Given the description of an element on the screen output the (x, y) to click on. 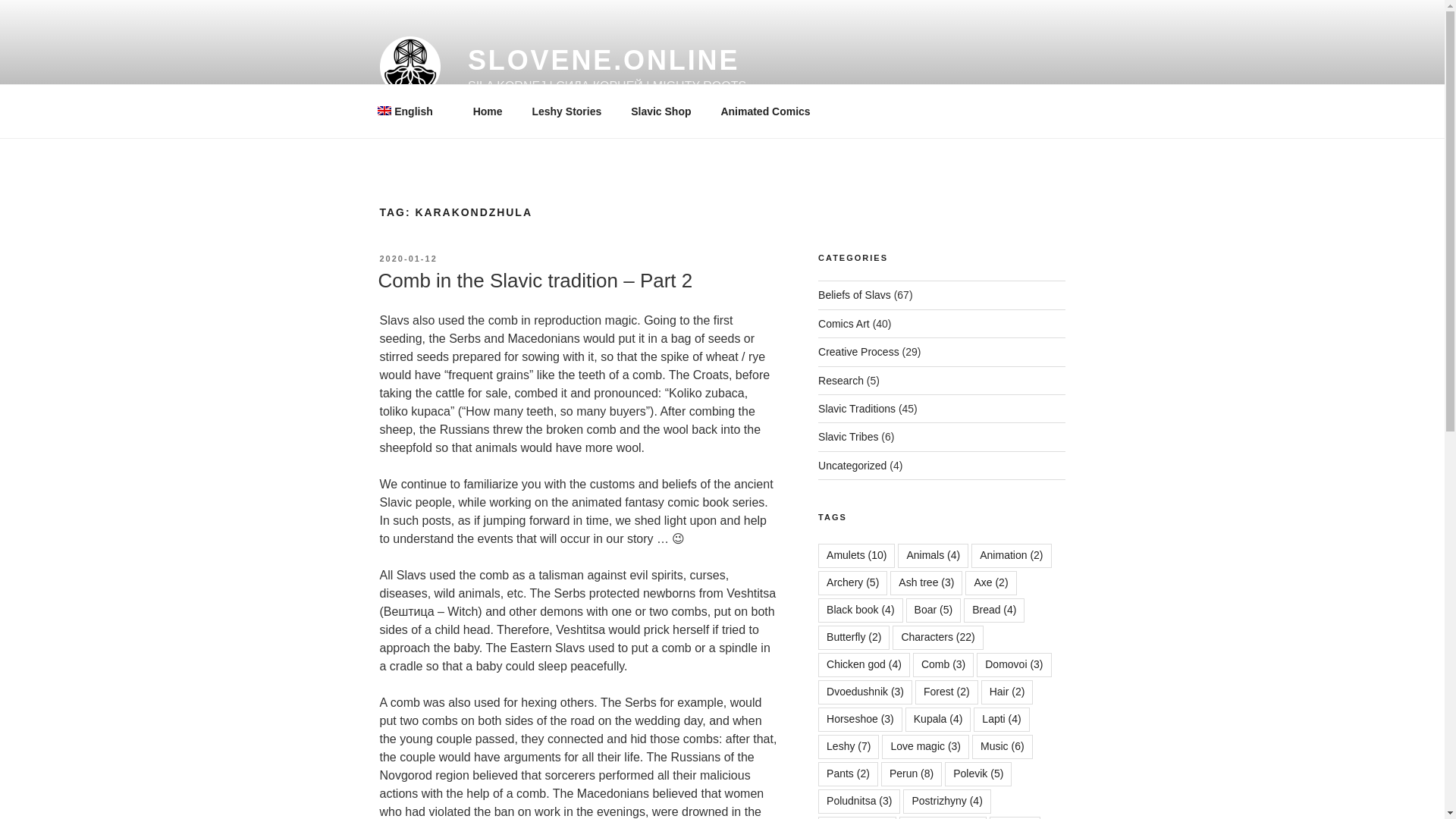
Research (840, 380)
2020-01-12 (407, 257)
Slavic Tribes (847, 436)
English (410, 110)
Uncategorized (852, 465)
Creative Process (858, 351)
Animated Comics (765, 110)
Beliefs of Slavs (854, 295)
SLOVENE.ONLINE (603, 60)
Slavic Traditions (856, 408)
Home (487, 110)
Comics Art (843, 323)
Leshy Stories (566, 110)
English (410, 110)
